Given the description of an element on the screen output the (x, y) to click on. 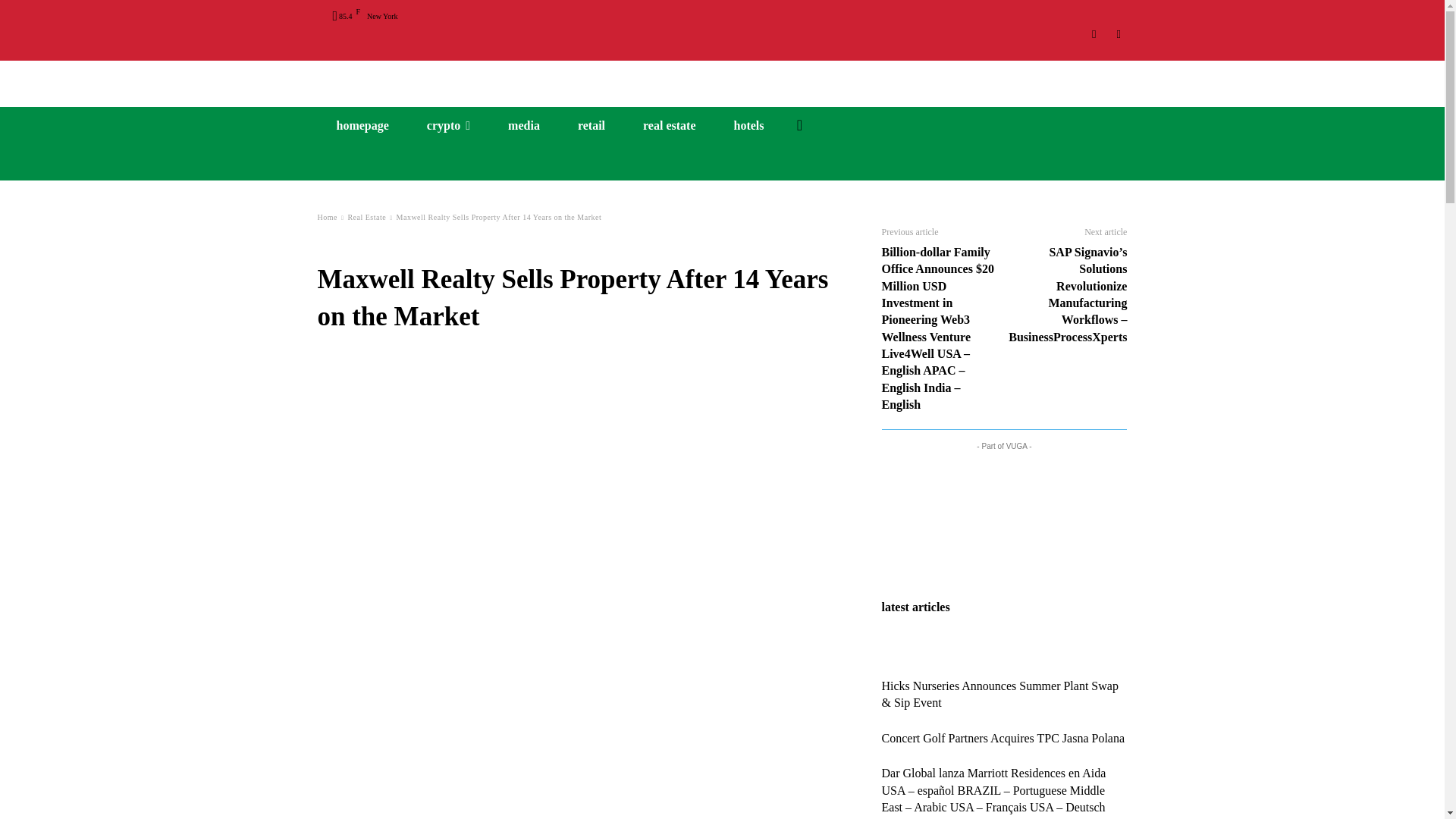
Delta Quattro (721, 77)
retail (591, 125)
homepage (362, 125)
hotels (748, 125)
media (524, 125)
Facebook (1117, 34)
Instagram (1094, 34)
Delta Quattro (721, 77)
real estate (669, 125)
crypto (448, 125)
